Given the description of an element on the screen output the (x, y) to click on. 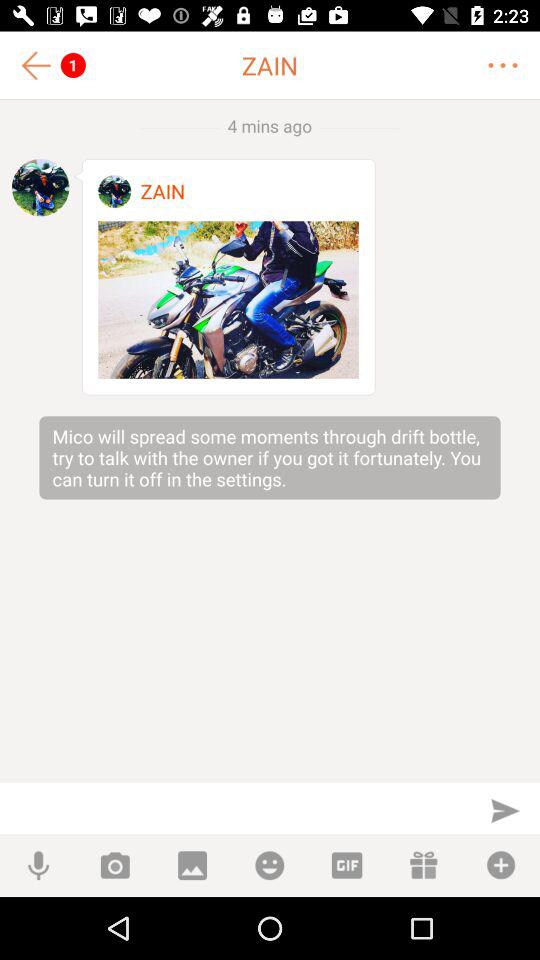
view emoticons (269, 865)
